Given the description of an element on the screen output the (x, y) to click on. 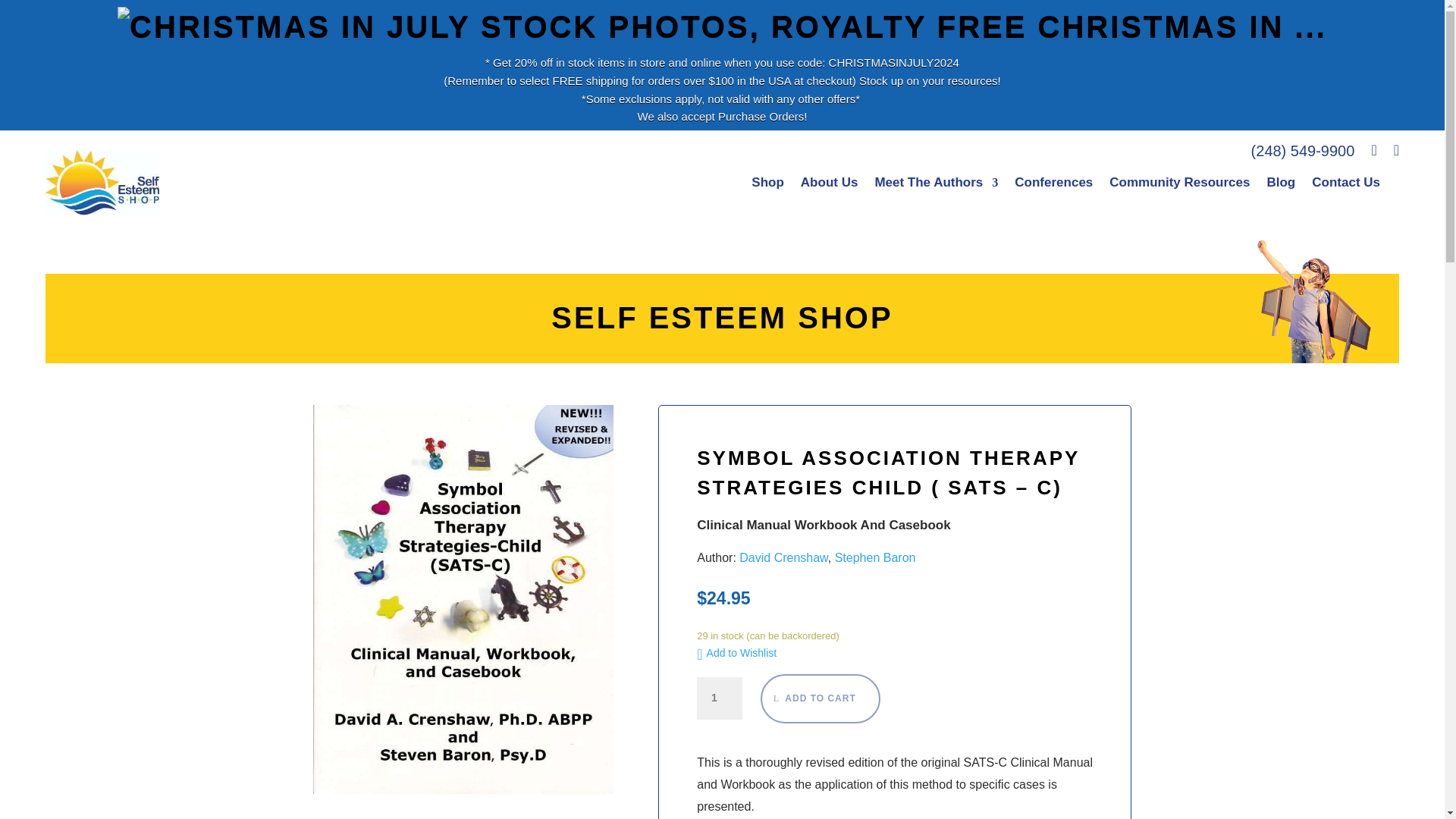
Blog (1280, 182)
Meet The Authors (936, 182)
Community Resources (1179, 182)
Contact Us (1345, 182)
1 (719, 698)
original-722.jpeg (462, 598)
Conferences (1053, 182)
About Us (829, 182)
Shop (767, 182)
